Given the description of an element on the screen output the (x, y) to click on. 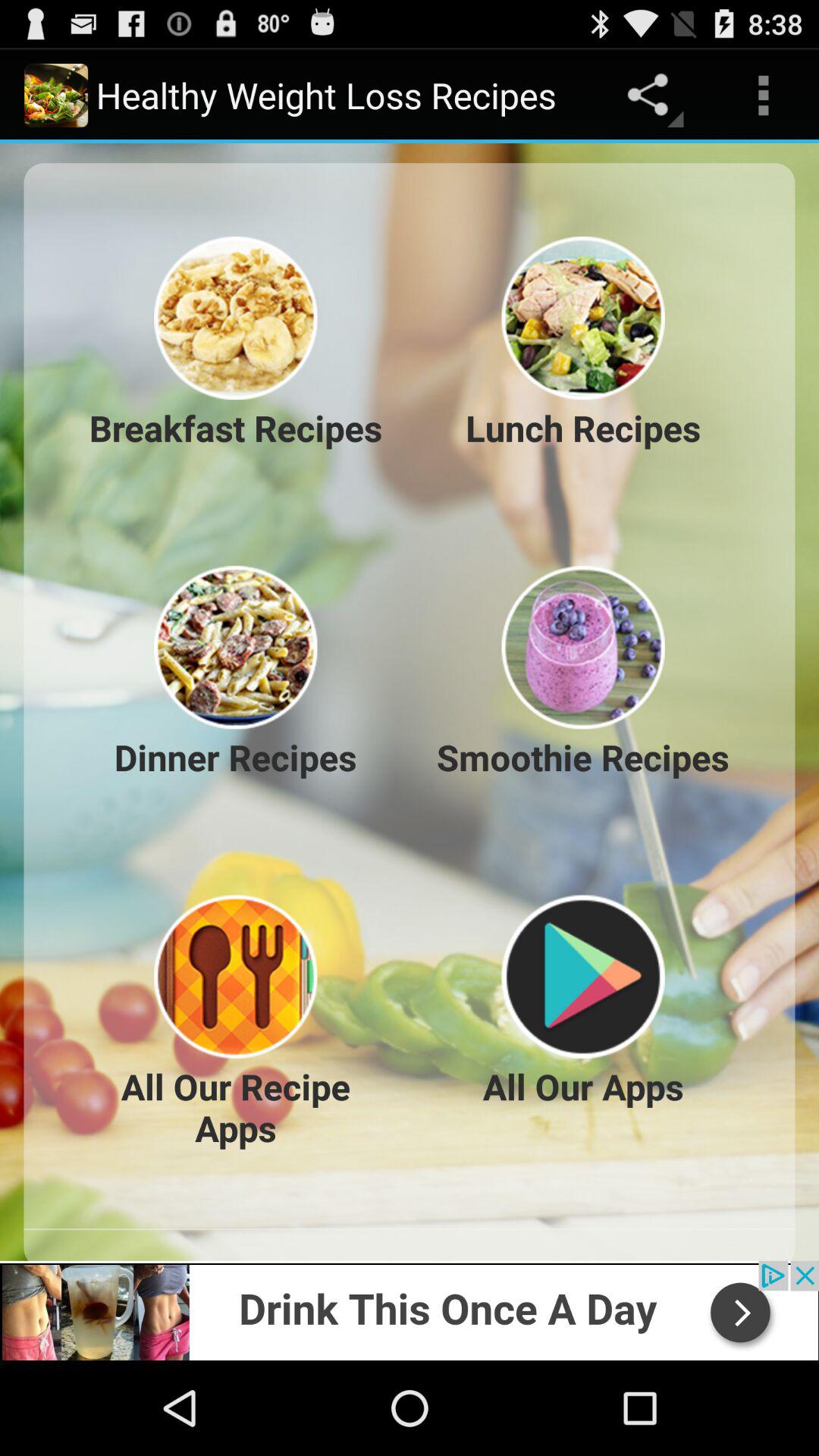
advertisement drink this once a day (409, 1310)
